Given the description of an element on the screen output the (x, y) to click on. 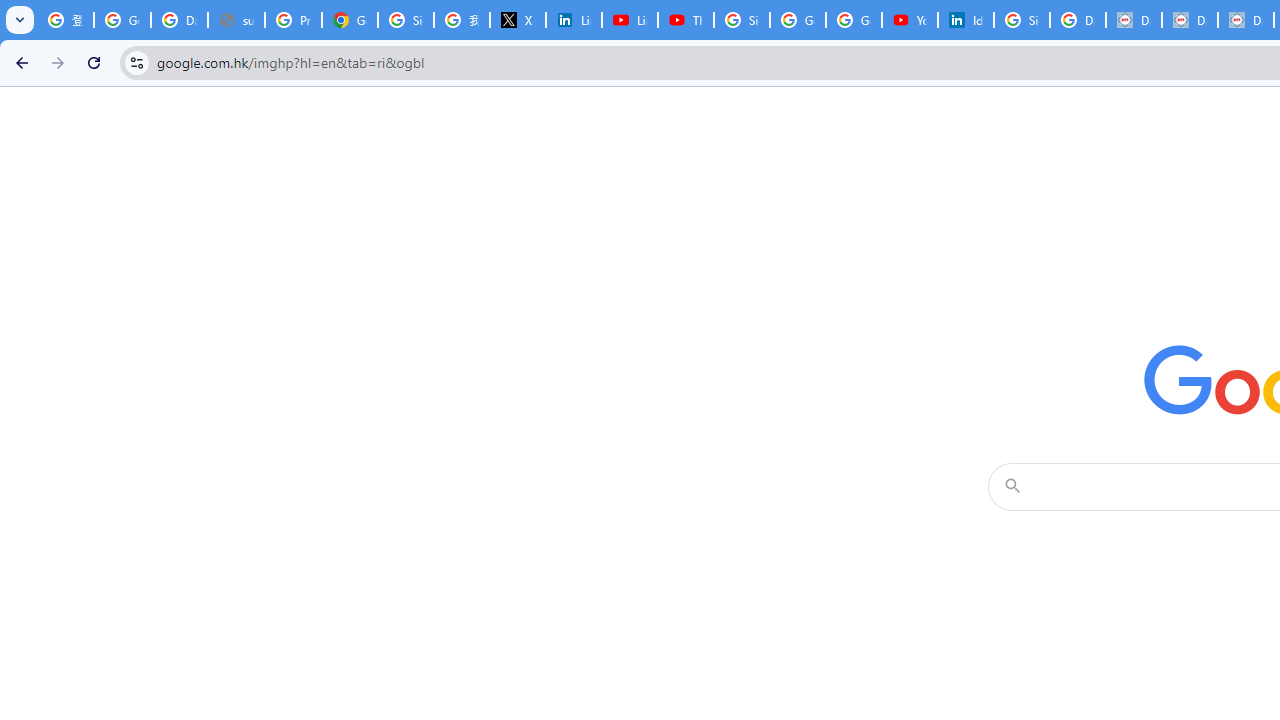
Data Privacy Framework (1190, 20)
Data Privacy Framework (1133, 20)
X (518, 20)
